Given the description of an element on the screen output the (x, y) to click on. 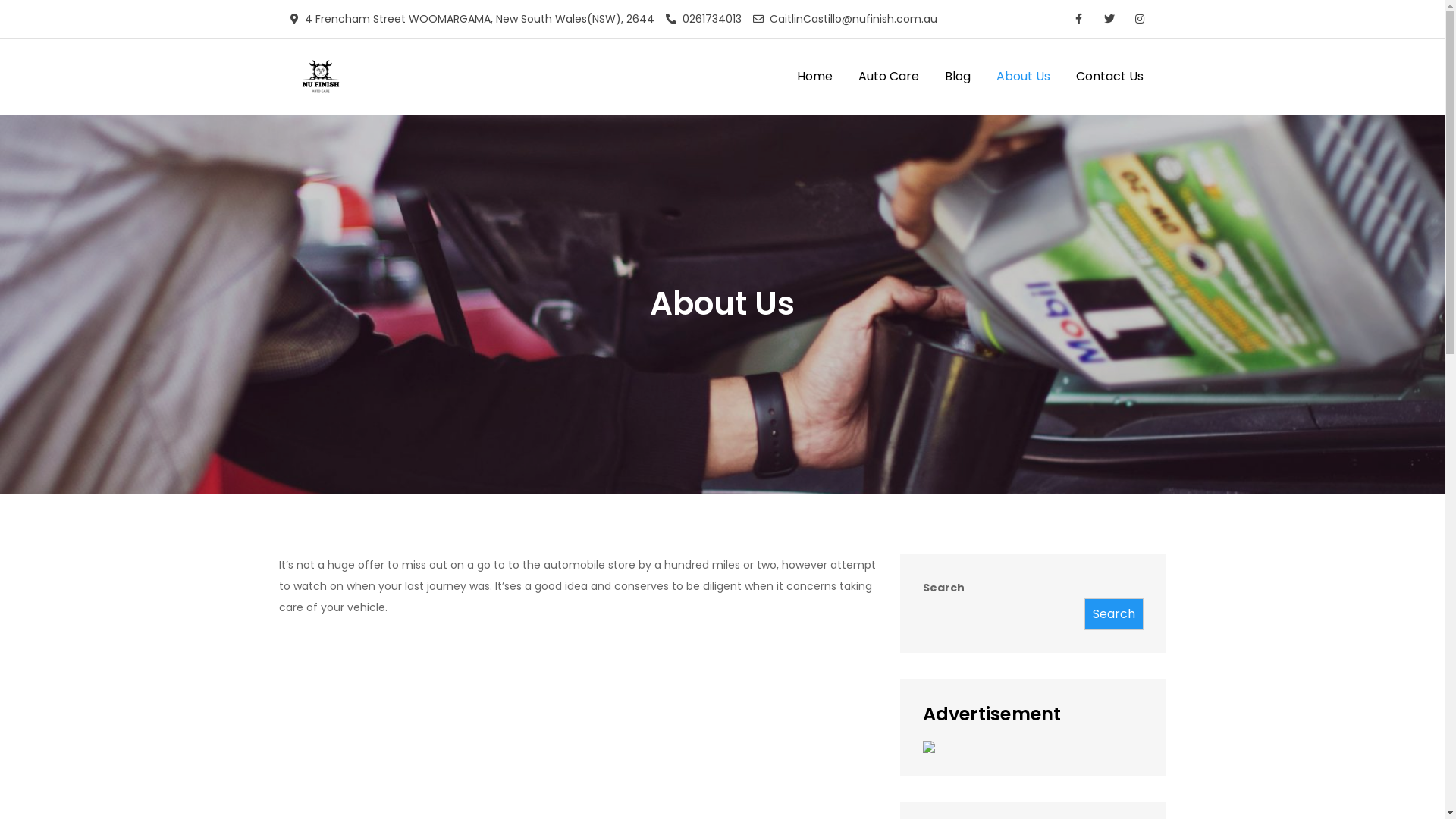
Search Element type: text (1113, 614)
About Us Element type: text (1022, 76)
Home Element type: text (814, 76)
Blog Element type: text (956, 76)
Nu Finish Element type: text (408, 88)
CaitlinCastillo@nufinish.com.au Element type: text (844, 18)
0261734013 Element type: text (703, 18)
Contact Us Element type: text (1109, 76)
Auto Care Element type: text (887, 76)
